Given the description of an element on the screen output the (x, y) to click on. 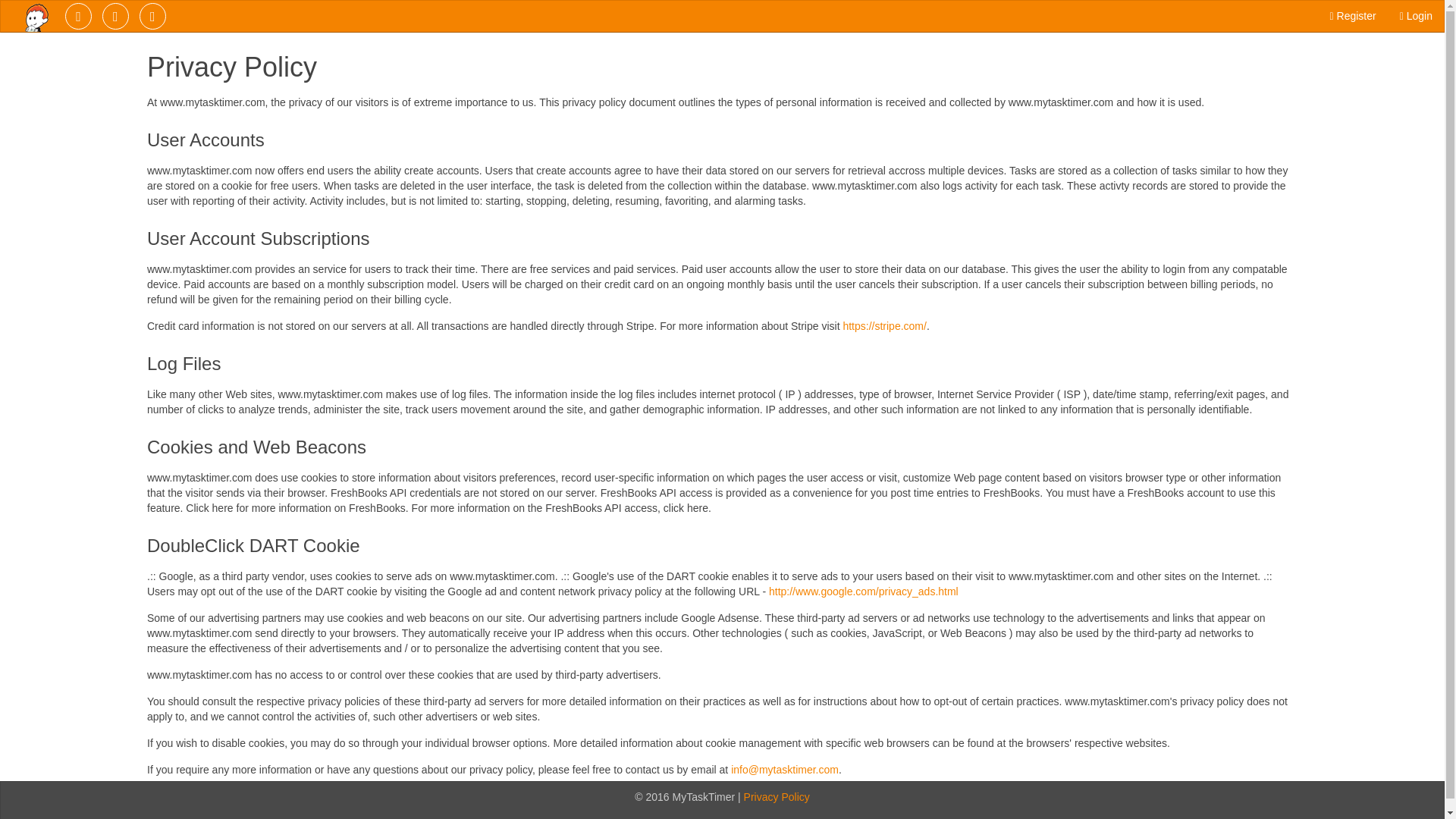
MyTaskTimer (34, 22)
Register (1353, 15)
Privacy Policy (776, 797)
